Given the description of an element on the screen output the (x, y) to click on. 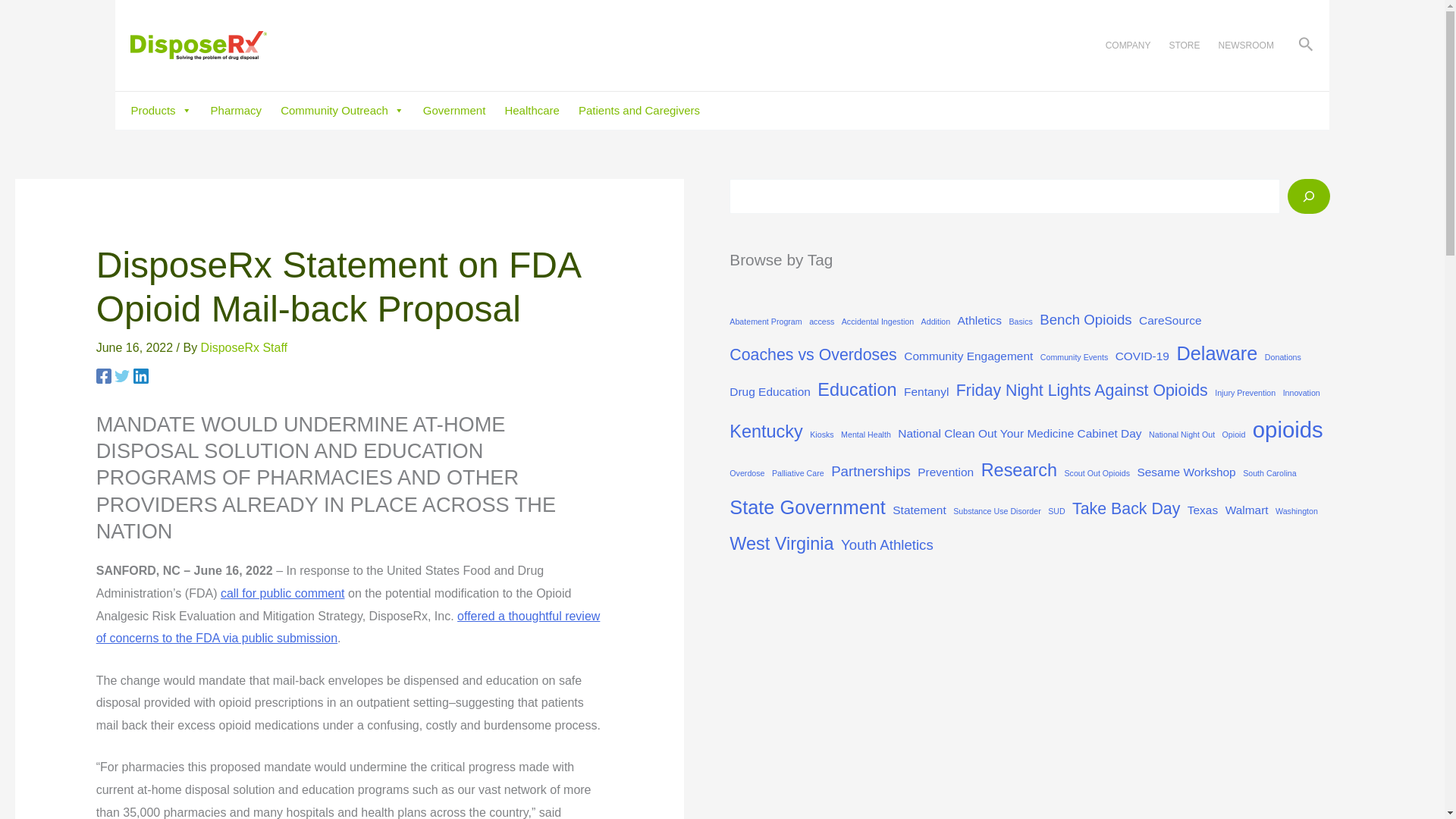
Patients and Caregivers (639, 110)
Healthcare (531, 110)
Community Outreach (342, 110)
Government (454, 110)
Pharmacy (236, 110)
View all posts by DisposeRx Staff (243, 347)
Products (160, 110)
Search (56, 28)
